Given the description of an element on the screen output the (x, y) to click on. 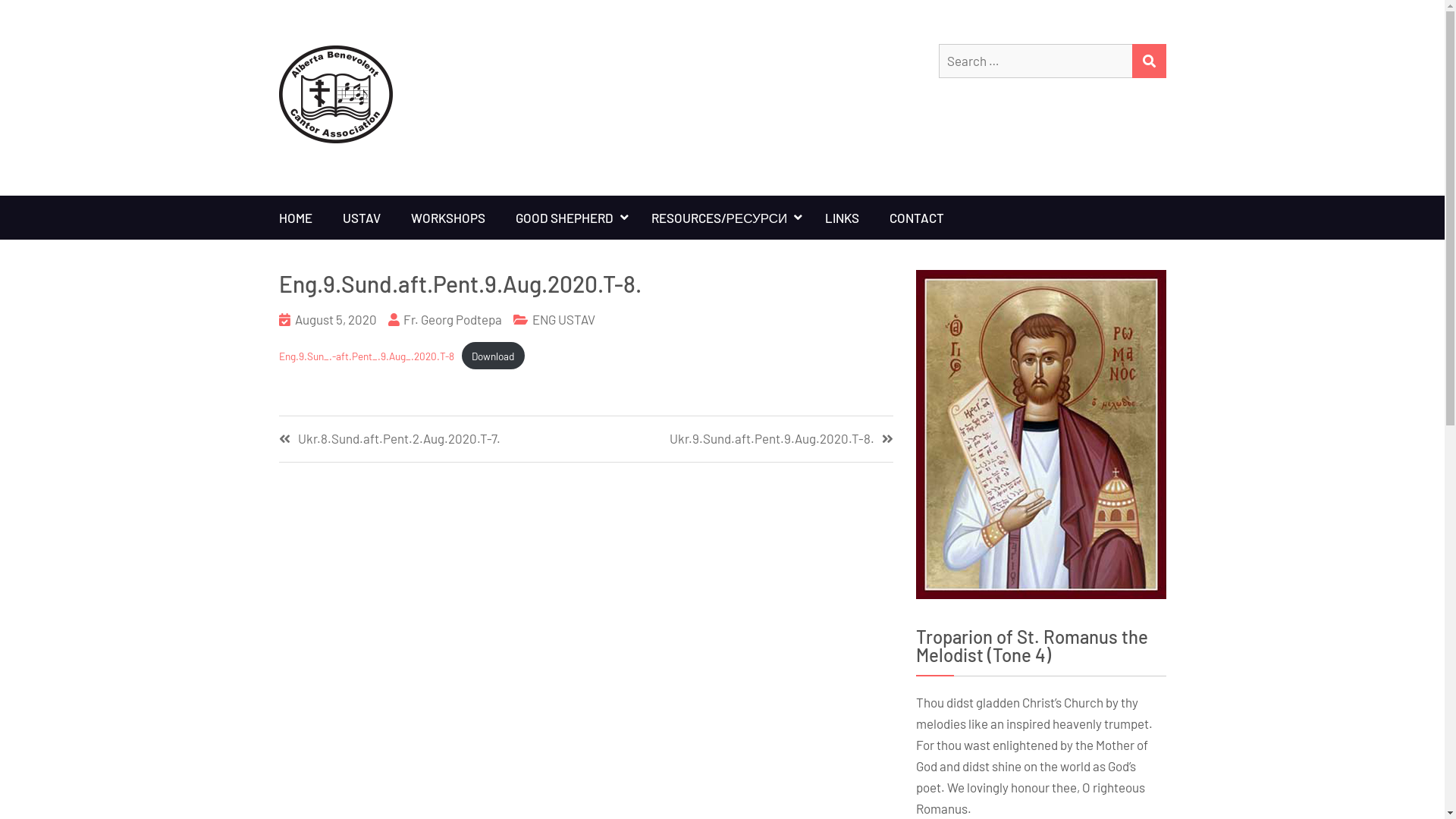
Download Element type: text (492, 356)
Eng.9.Sun_.-aft.Pent_.9.Aug_.2020.T-8 Element type: text (366, 355)
ENG USTAV Element type: text (563, 318)
Ukr.8.Sund.aft.Pent.2.Aug.2020.T-7. Element type: text (432, 438)
August 5, 2020 Element type: text (335, 318)
WORKSHOPS Element type: text (447, 217)
USTAV Element type: text (361, 217)
HOME Element type: text (295, 217)
GOOD SHEPHERD Element type: text (568, 217)
Ukr.9.Sund.aft.Pent.9.Aug.2020.T-8. Element type: text (738, 438)
CONTACT Element type: text (916, 217)
LINKS Element type: text (841, 217)
SEARCH Element type: text (1148, 60)
Fr. Georg Podtepa Element type: text (452, 318)
